Given the description of an element on the screen output the (x, y) to click on. 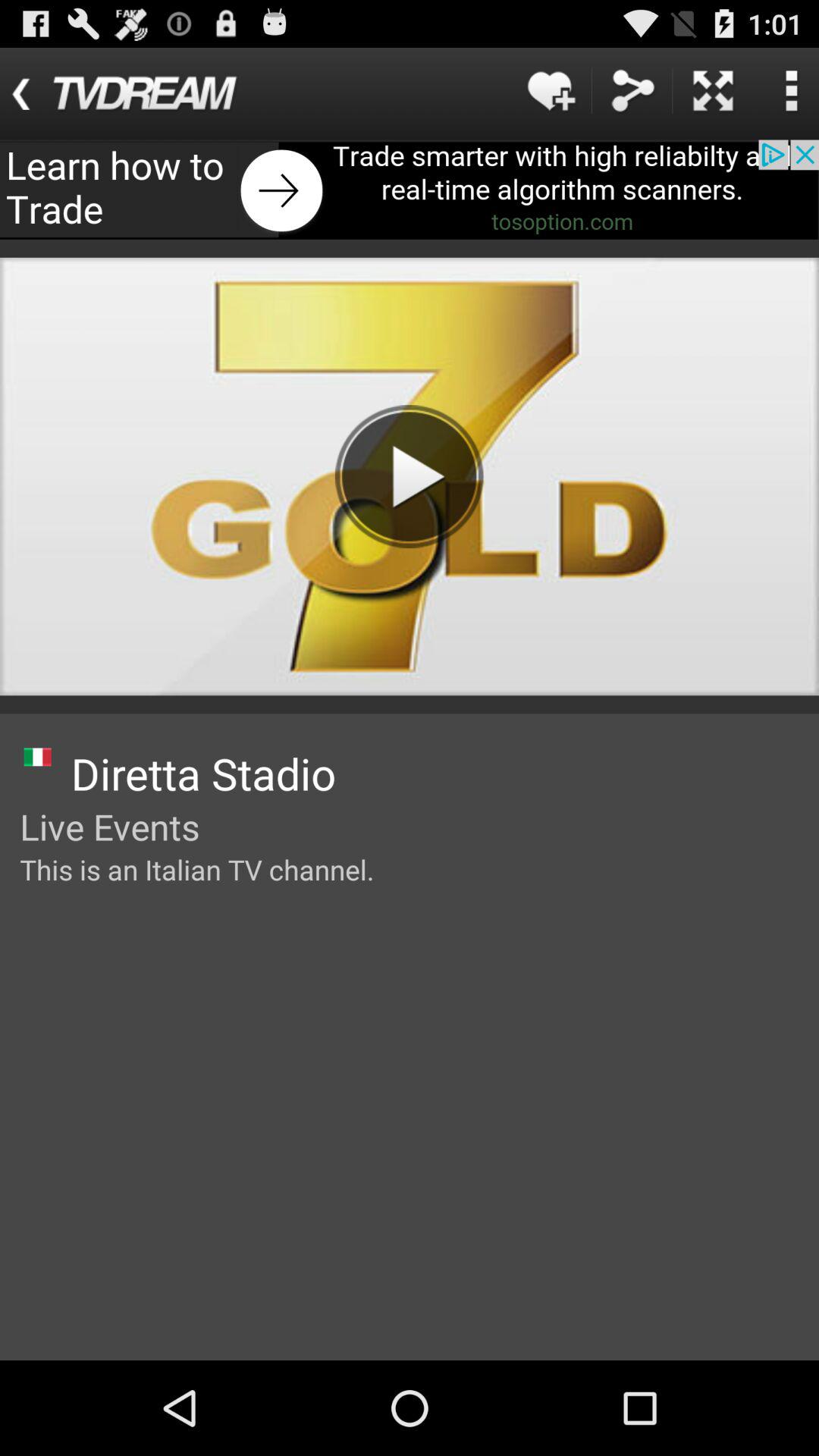
click on the button which is top right corner of the page (791, 89)
select the text which is at the top left corner of the page (140, 92)
click on the play icon (409, 476)
click on more options button (791, 89)
icon left to share icon at the top of the page (551, 89)
icon left to three vertical dot icon at the top right corner (712, 89)
click on the expand icon at the top right corner of the page (712, 89)
